Given the description of an element on the screen output the (x, y) to click on. 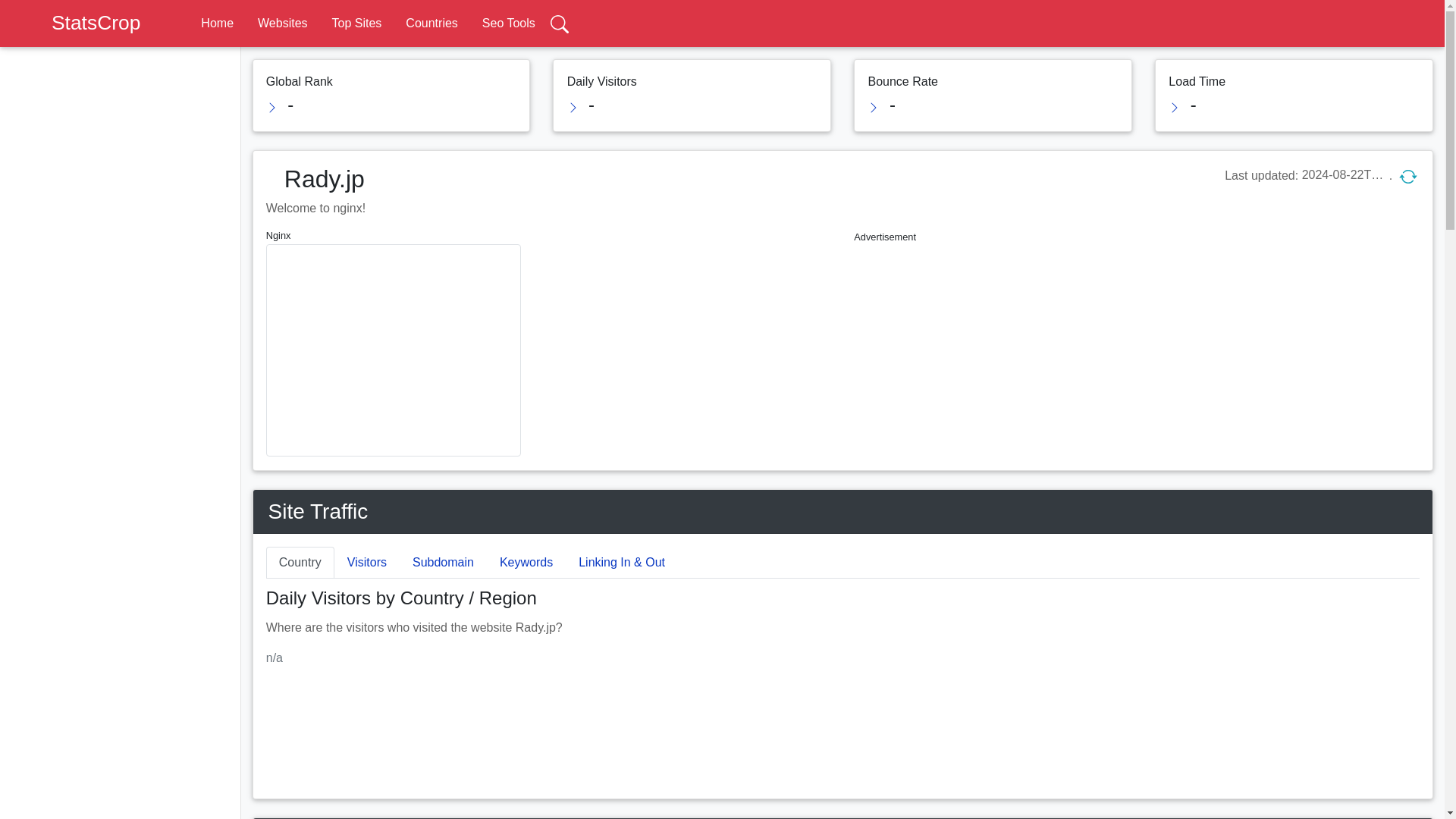
Top Sites (356, 22)
Home (216, 22)
Refresh (1407, 176)
StatsCrop (81, 22)
Home (216, 22)
Countries (431, 22)
Websites (282, 22)
Nginx (548, 235)
Visitors (366, 562)
Country (300, 562)
